Given the description of an element on the screen output the (x, y) to click on. 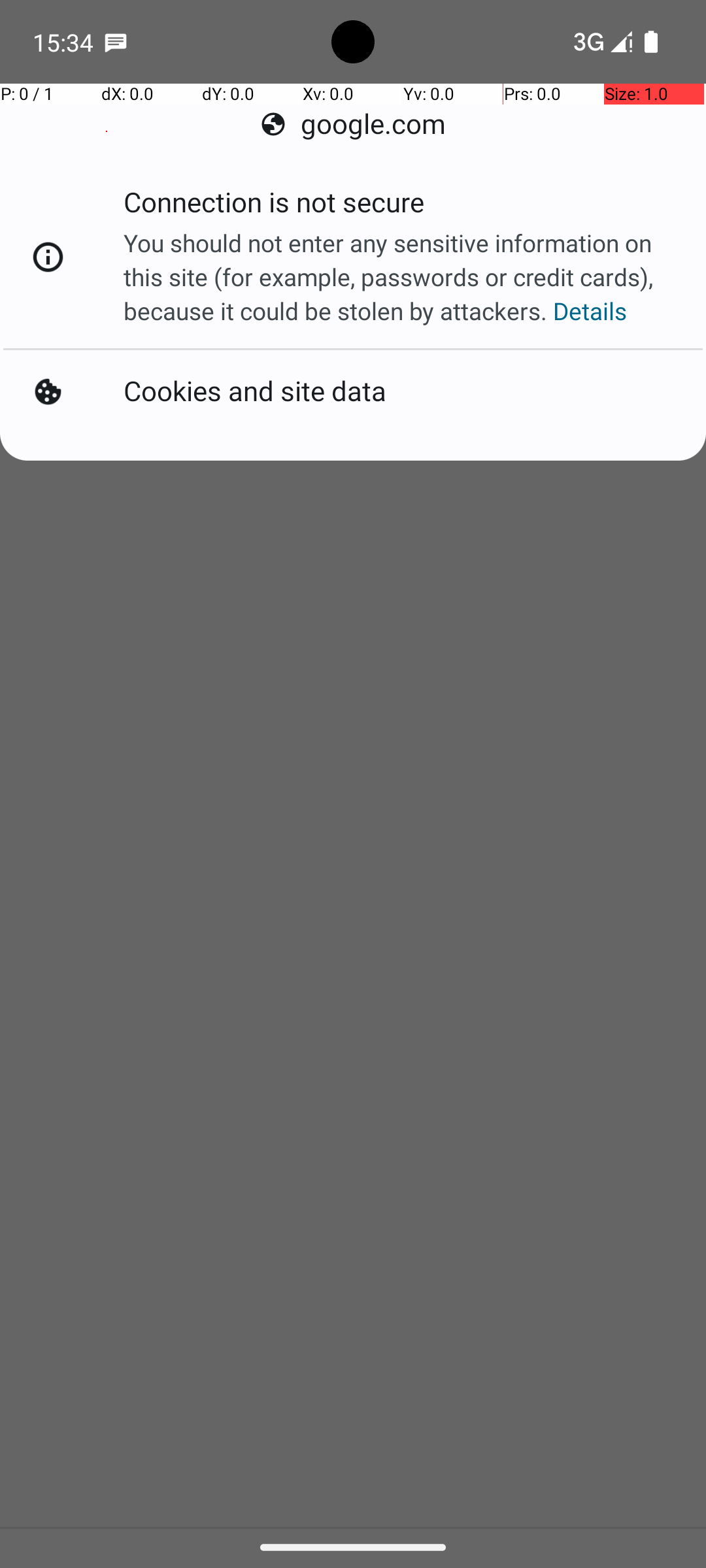
google.com Element type: android.widget.TextView (352, 124)
Connection is not secure Element type: android.widget.TextView (273, 206)
You should not enter any sensitive information on this site (for example, passwords or credit cards), because it could be stolen by attackers. Details Element type: android.widget.TextView (400, 276)
Cookies and site data Element type: android.widget.TextView (254, 391)
SMS Messenger notification: +10214033213 Element type: android.widget.ImageView (115, 41)
